Given the description of an element on the screen output the (x, y) to click on. 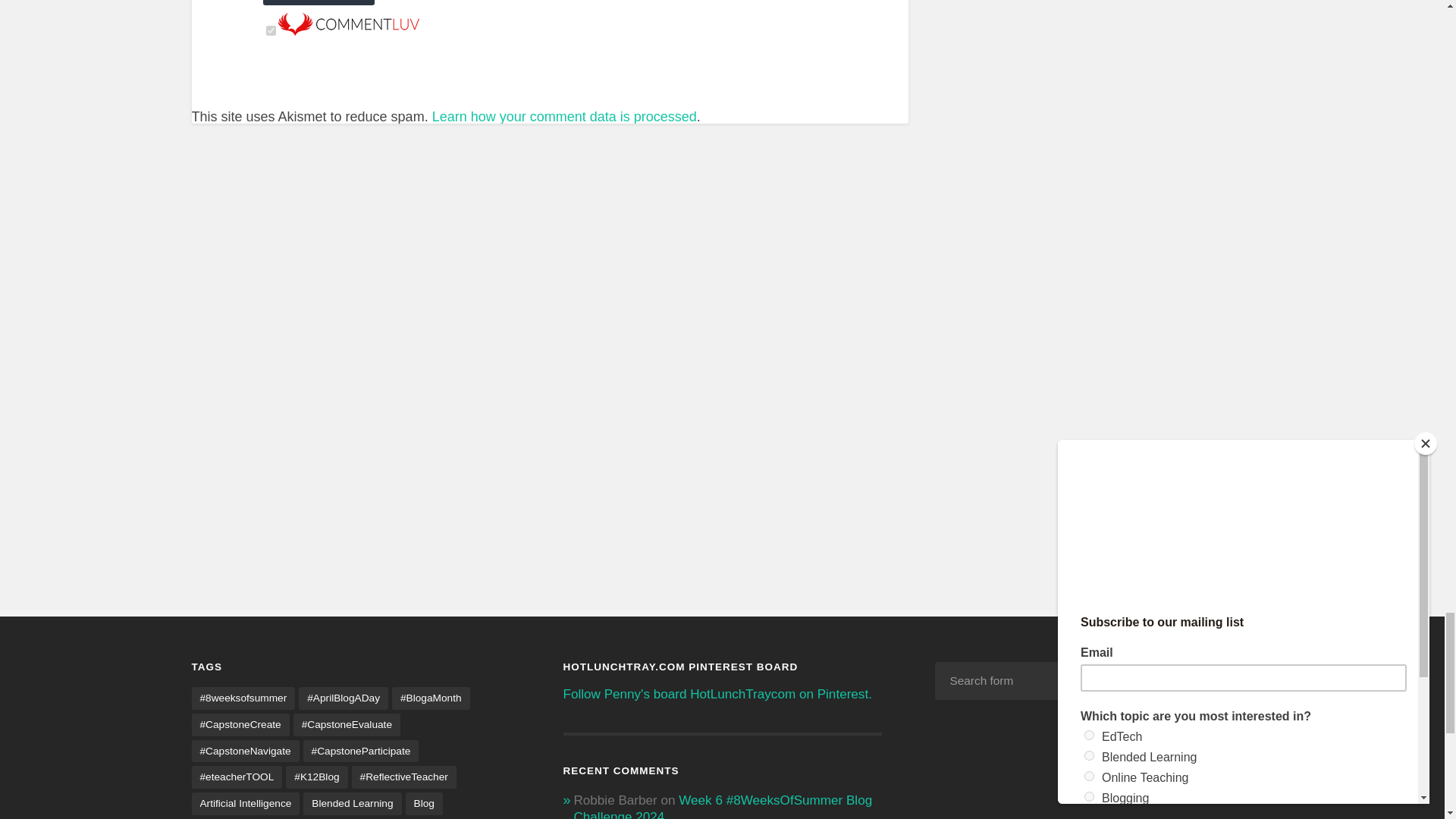
Search (1230, 680)
Search (1230, 680)
Post Comment (318, 2)
on (271, 30)
CommentLuv is enabled (348, 30)
